Given the description of an element on the screen output the (x, y) to click on. 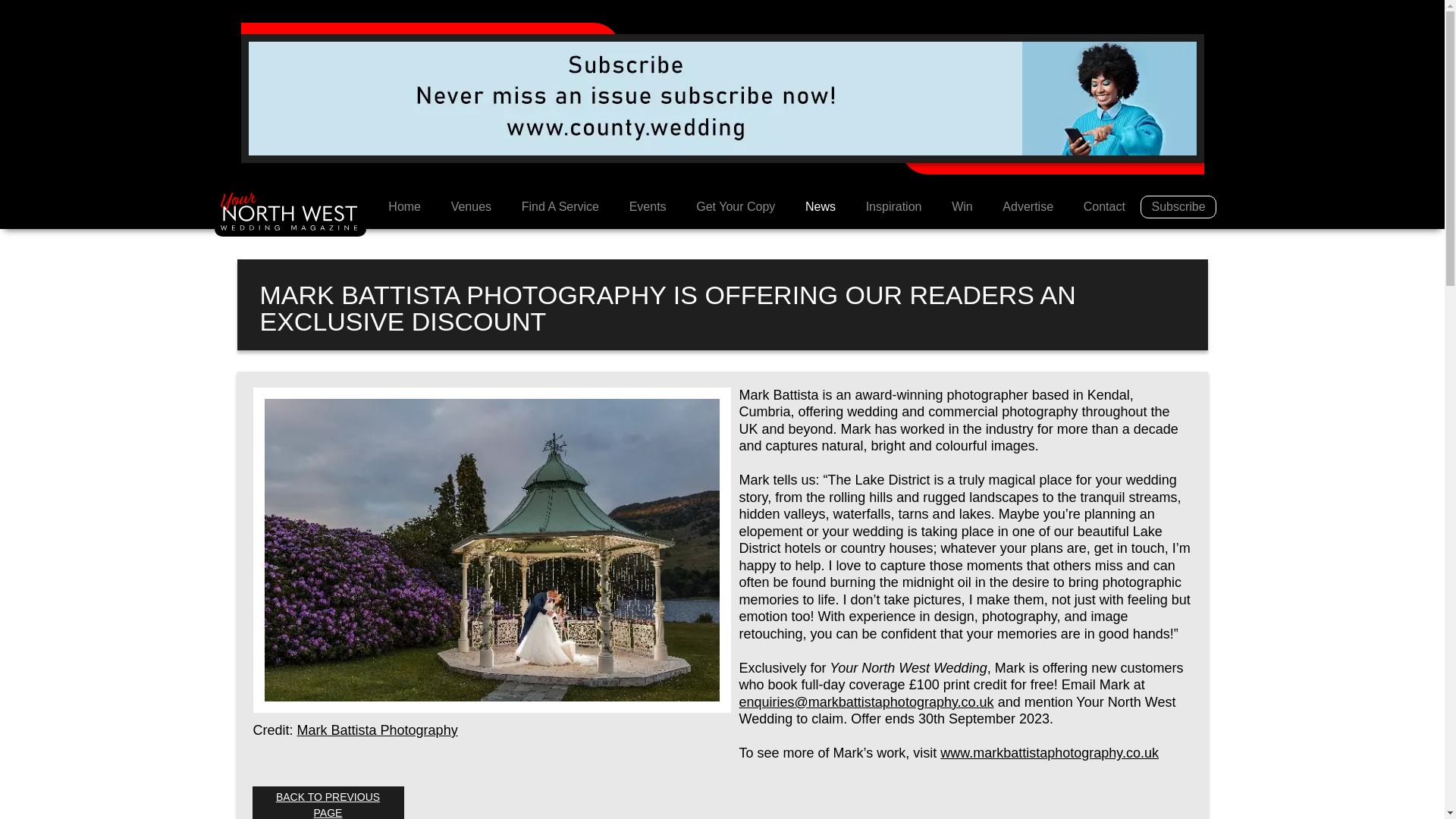
Events (647, 206)
Your North West Wedding (289, 212)
Subscribe to Your North West Wedding magazine for free (1178, 206)
Subscribe to County Wedding Magazines for free (722, 97)
Be inspired by Your North West Wedding magazine (893, 206)
Win (961, 206)
Find your dream wedding venue in the North West (470, 206)
Upcoming wedding fayres, shows and events (647, 206)
www.markbattistaphotography.co.uk (1049, 752)
